Given the description of an element on the screen output the (x, y) to click on. 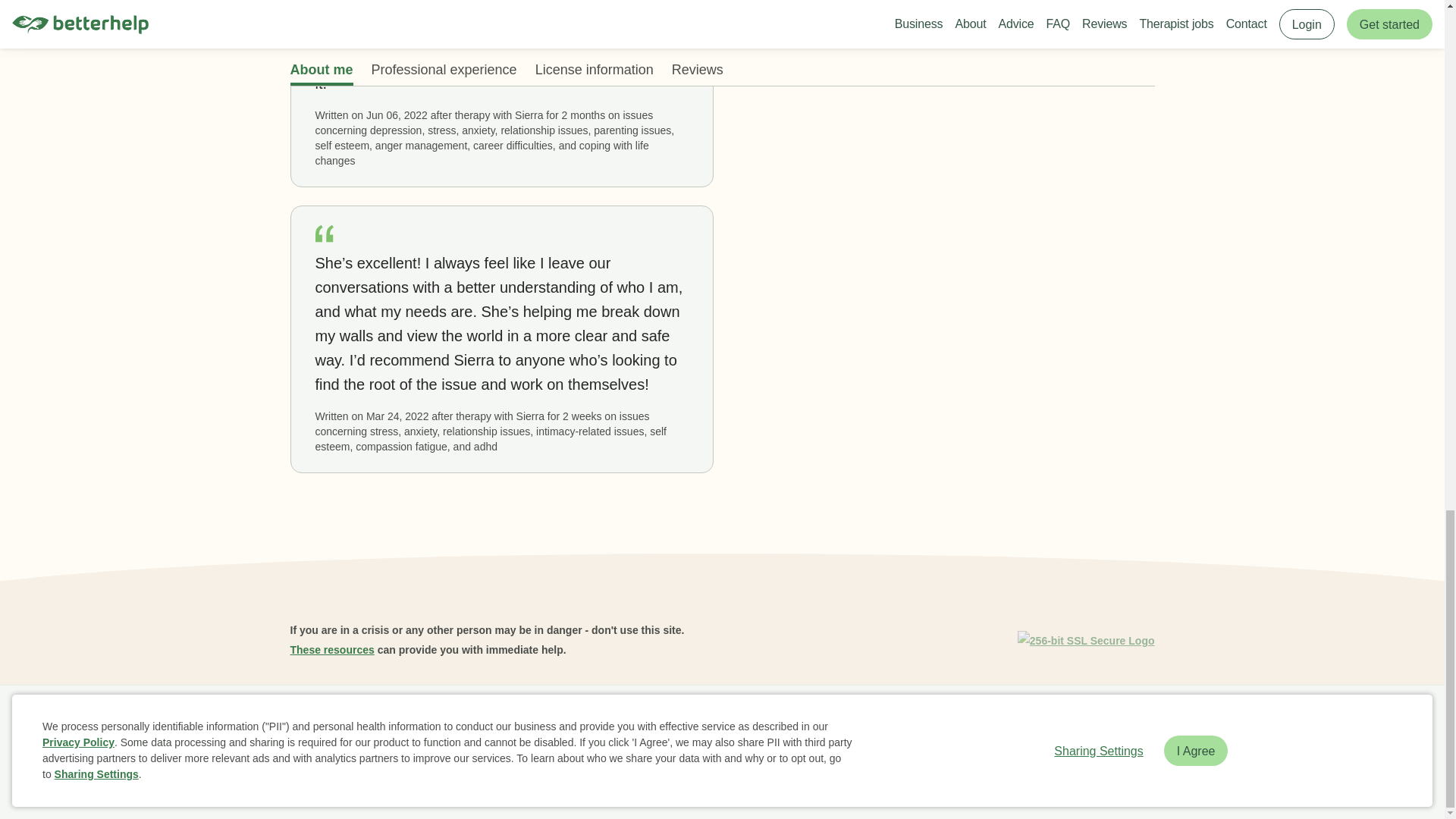
About (419, 721)
Find a Therapist (692, 721)
Business (365, 721)
These resources (331, 649)
Advice (564, 721)
Home (311, 721)
FAQ (462, 721)
For Therapists (928, 721)
Reviews (510, 721)
Careers (618, 721)
